Given the description of an element on the screen output the (x, y) to click on. 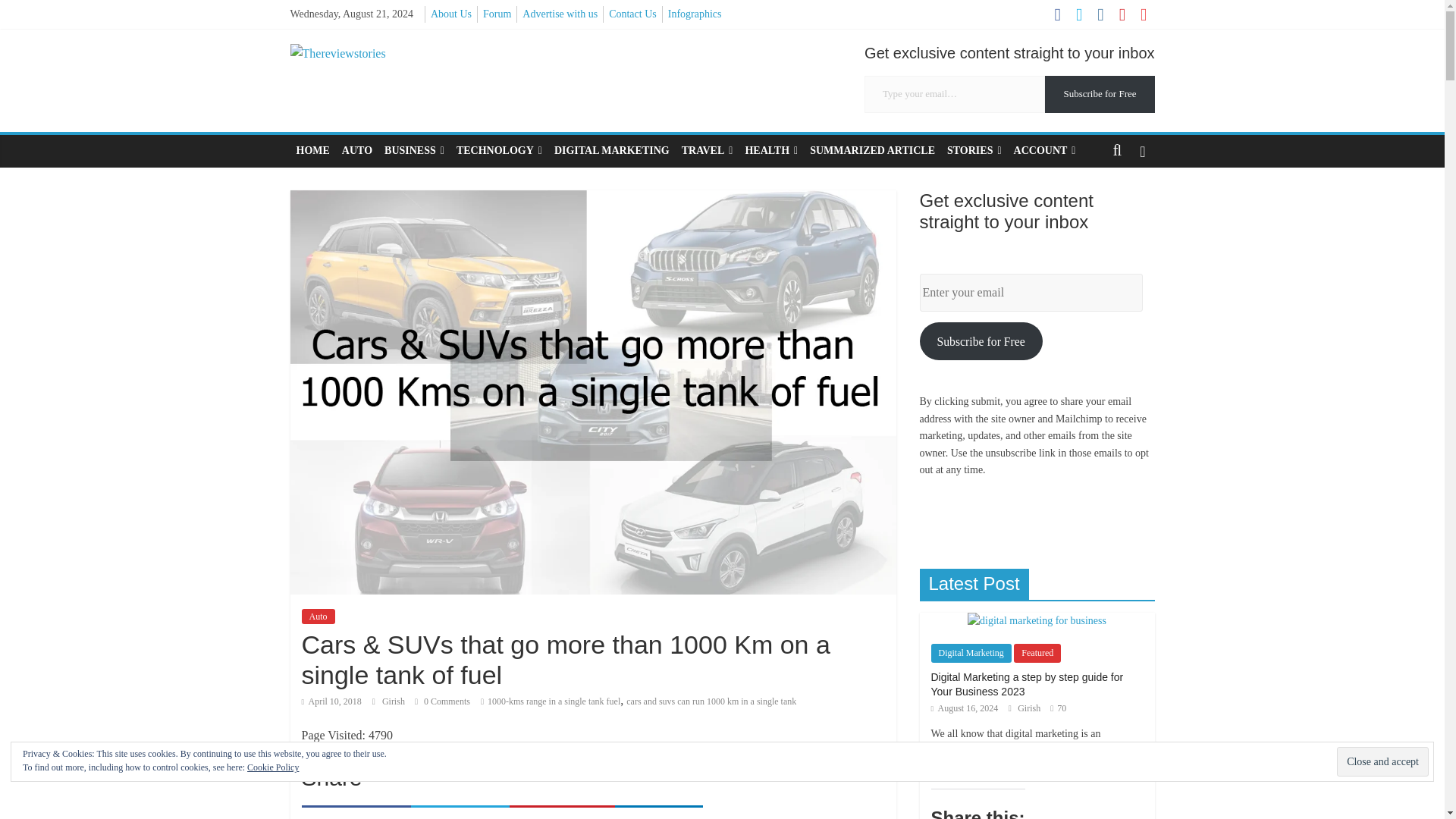
Subscribe for Free (1099, 94)
Contact Us (632, 13)
AUTO (357, 151)
About Us (450, 13)
4:08 am (331, 701)
HEALTH (770, 151)
DIGITAL MARKETING (611, 151)
Please fill in this field. (954, 94)
SUMMARIZED ARTICLE (871, 151)
BUSINESS (413, 151)
